Given the description of an element on the screen output the (x, y) to click on. 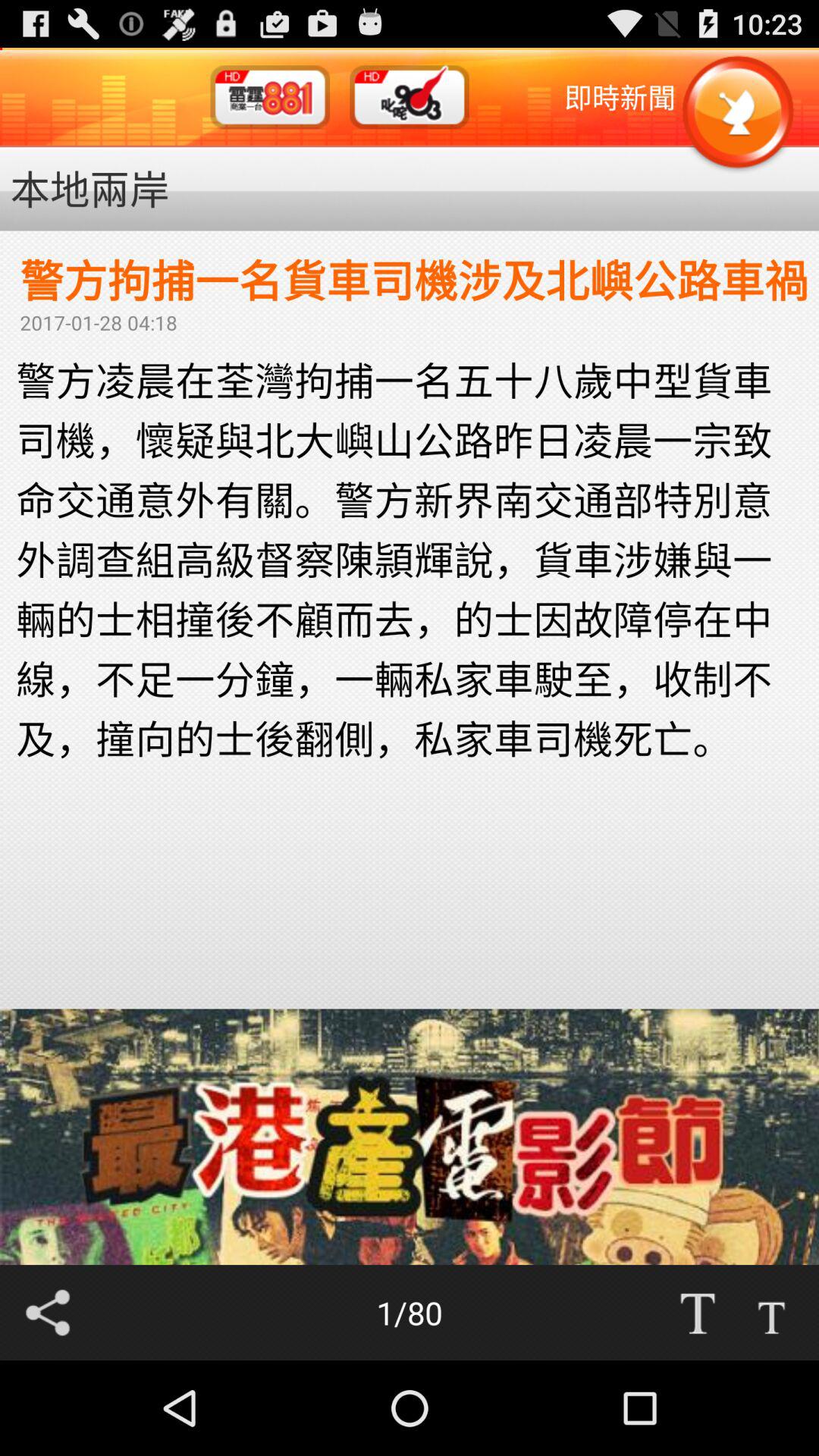
click on the share symbol which is bottom left hand side (47, 1312)
